Given the description of an element on the screen output the (x, y) to click on. 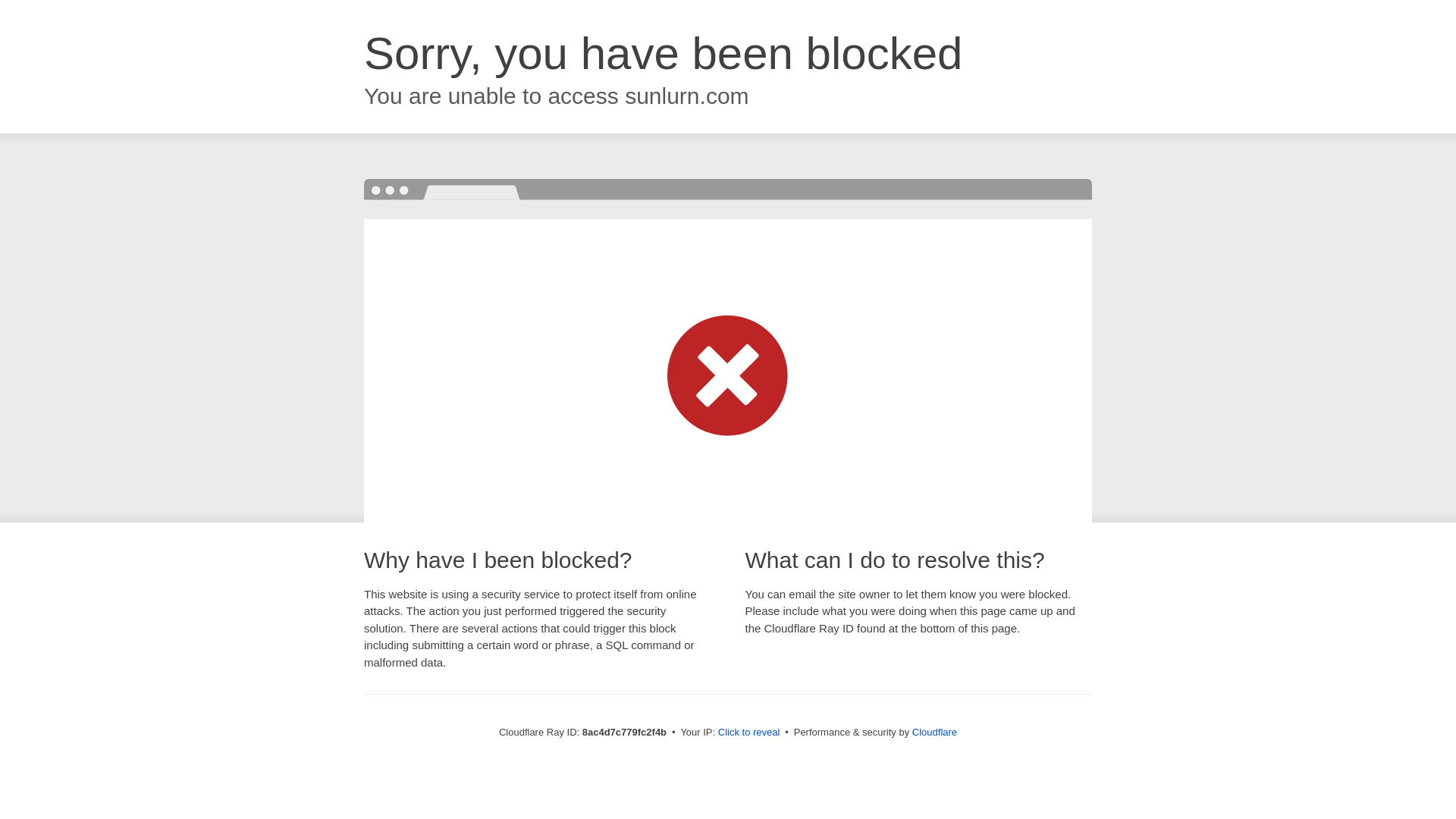
Click to reveal (748, 732)
Cloudflare (934, 731)
